Given the description of an element on the screen output the (x, y) to click on. 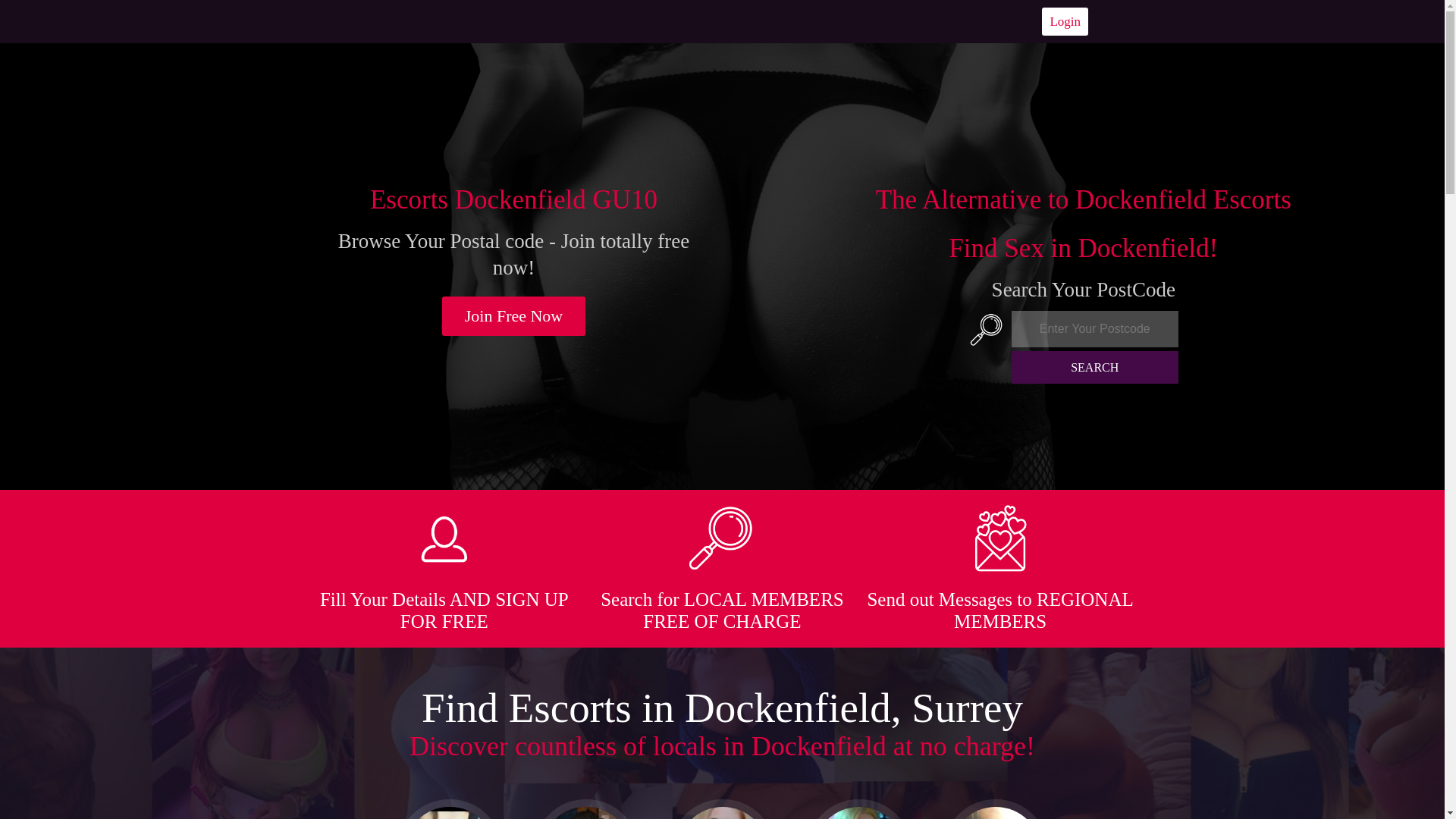
SEARCH (1094, 367)
Join (514, 315)
Login (1064, 21)
Join Free Now (514, 315)
Login (1064, 21)
